Given the description of an element on the screen output the (x, y) to click on. 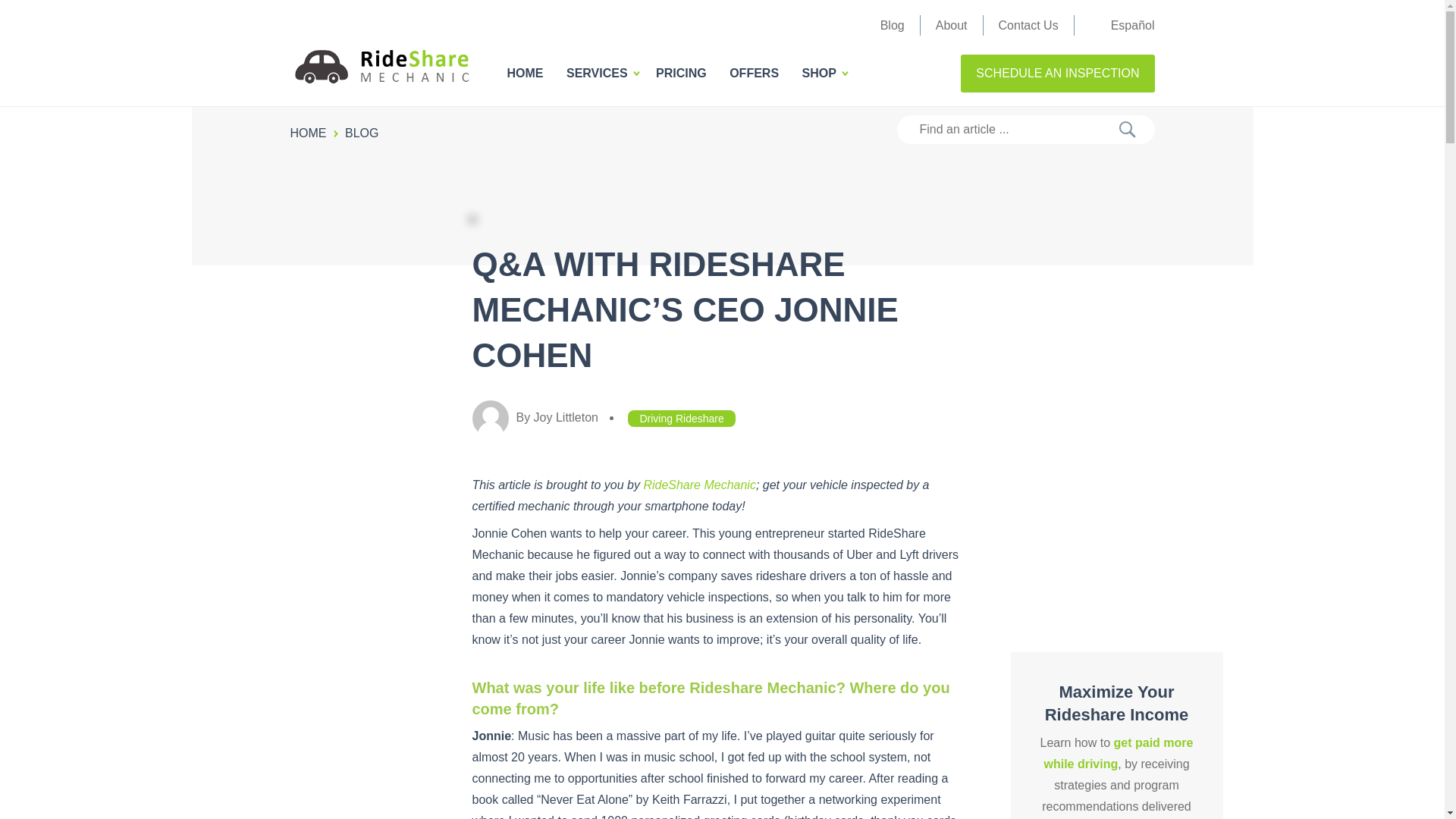
About (952, 24)
Driving Rideshare (681, 418)
OFFERS (753, 72)
BLOG (369, 132)
SERVICES (596, 72)
PRICING (681, 72)
RideShare Mechanic (699, 484)
SCHEDULE AN INSPECTION (1057, 73)
HOME (314, 132)
HOME (524, 72)
